Given the description of an element on the screen output the (x, y) to click on. 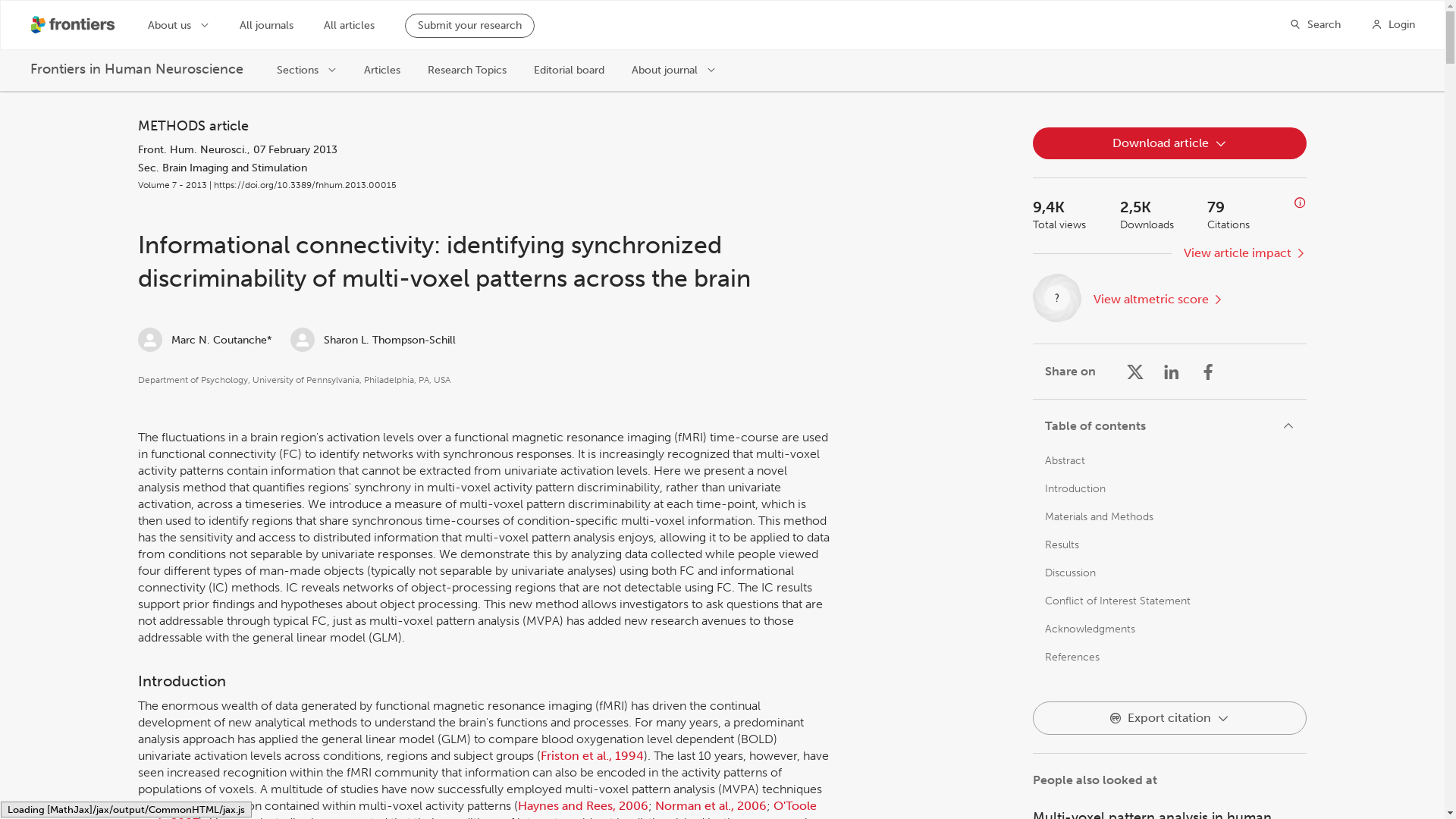
All articles (348, 25)
All journals (267, 25)
Submit your research (469, 25)
About us (178, 24)
Share on Linkedin (1170, 371)
Share on X (1134, 371)
Login (1393, 24)
Share on Facebook (1207, 371)
Search (1314, 24)
